Given the description of an element on the screen output the (x, y) to click on. 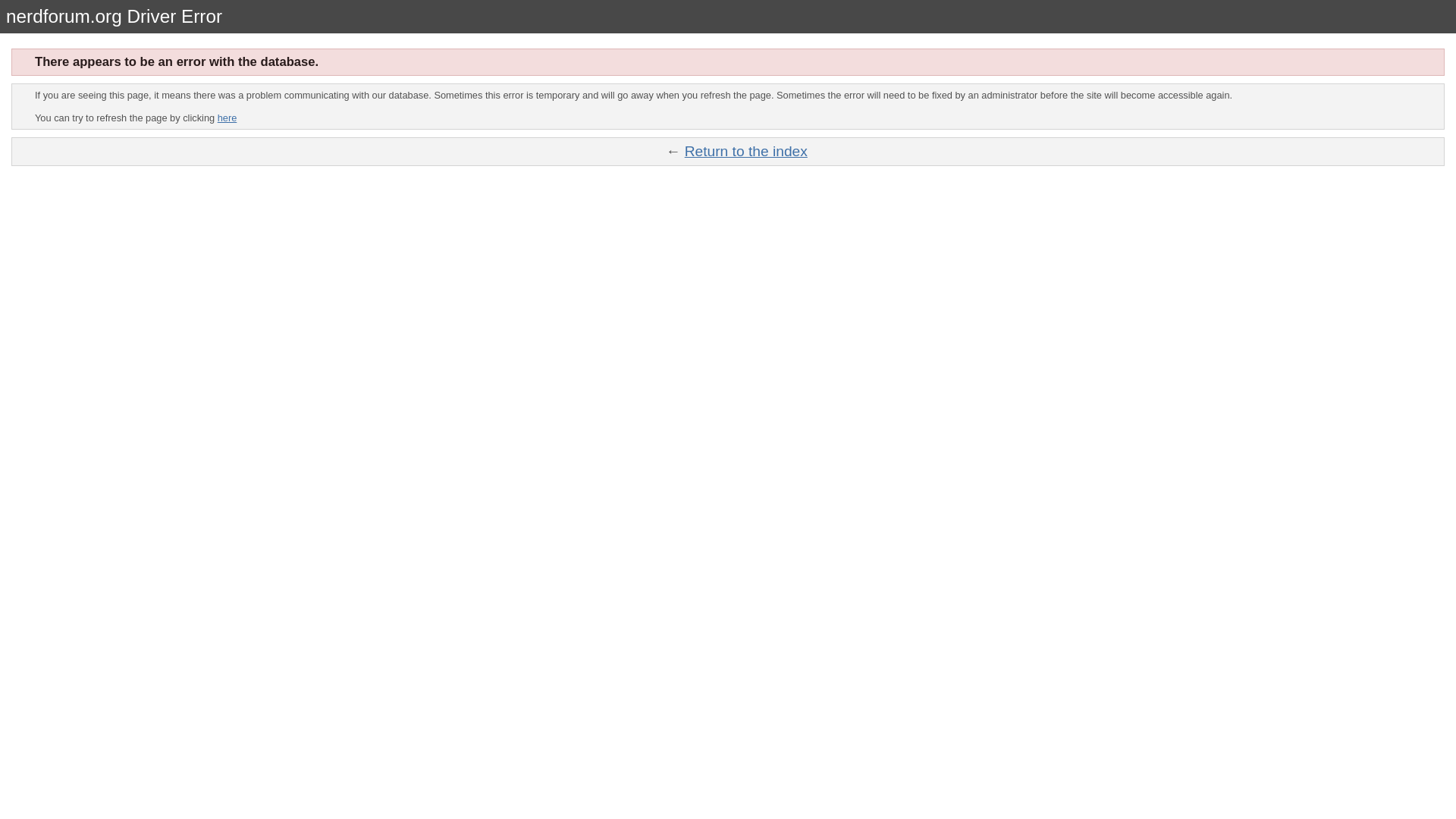
Return to the index (746, 150)
here (226, 117)
Go to home page (746, 150)
